Given the description of an element on the screen output the (x, y) to click on. 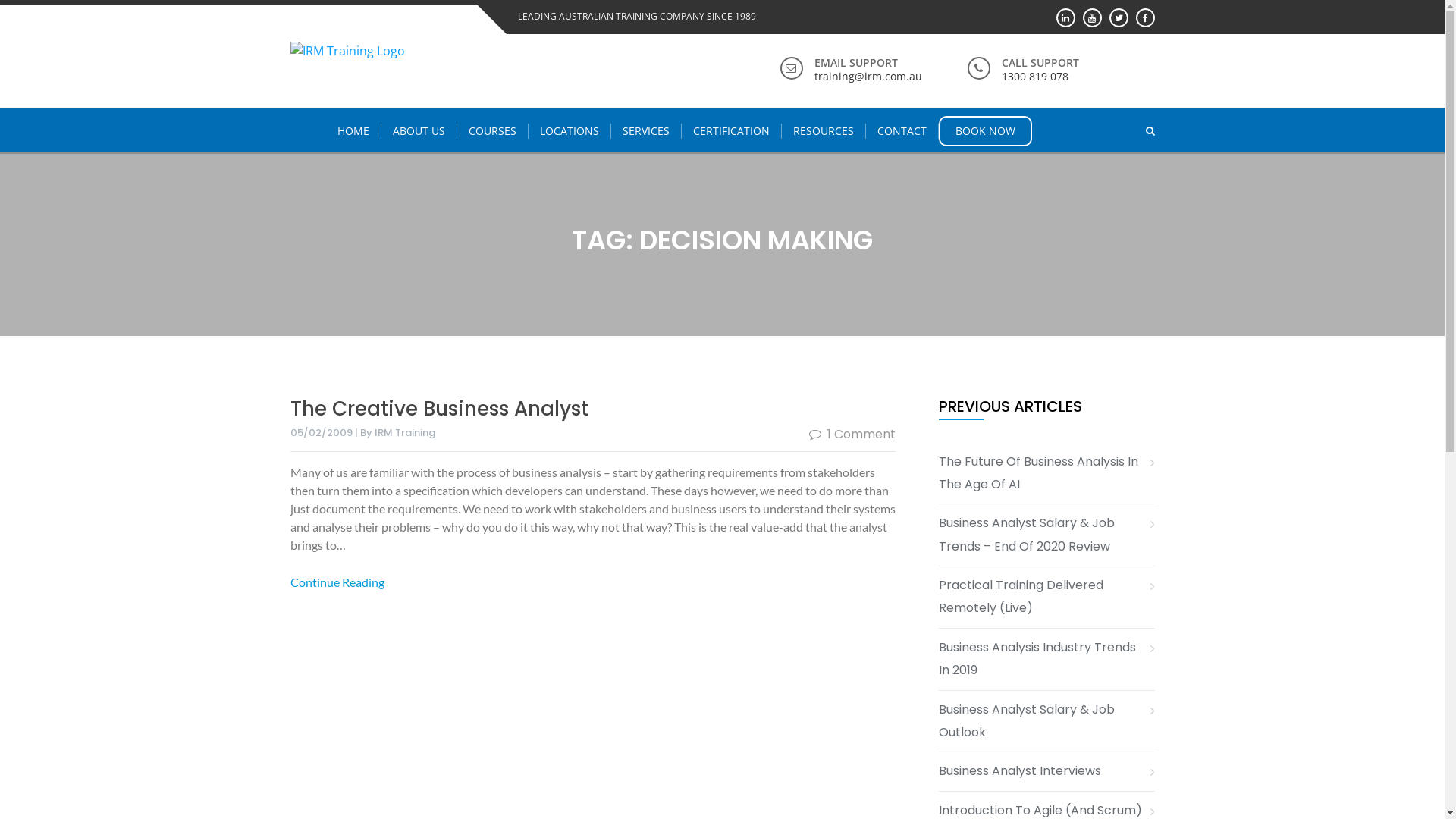
BOOK NOW Element type: text (985, 130)
Business Analyst Interviews Element type: text (1025, 771)
Practical Training Delivered Remotely (Live) Element type: text (1046, 596)
COURSES Element type: text (492, 130)
CONTACT Element type: text (902, 130)
SERVICES Element type: text (646, 130)
1 Comment Element type: text (851, 433)
Business Analyst Salary & Job Outlook Element type: text (1046, 721)
The Future Of Business Analysis In The Age Of AI Element type: text (1046, 473)
The Creative Business Analyst Element type: text (438, 407)
CERTIFICATION Element type: text (731, 130)
LOCATIONS Element type: text (569, 130)
Business Analysis Industry Trends In 2019 Element type: text (1046, 659)
ABOUT US Element type: text (419, 130)
RESOURCES Element type: text (823, 130)
Continue Reading Element type: text (338, 581)
Search Element type: text (1117, 130)
HOME Element type: text (353, 130)
